Given the description of an element on the screen output the (x, y) to click on. 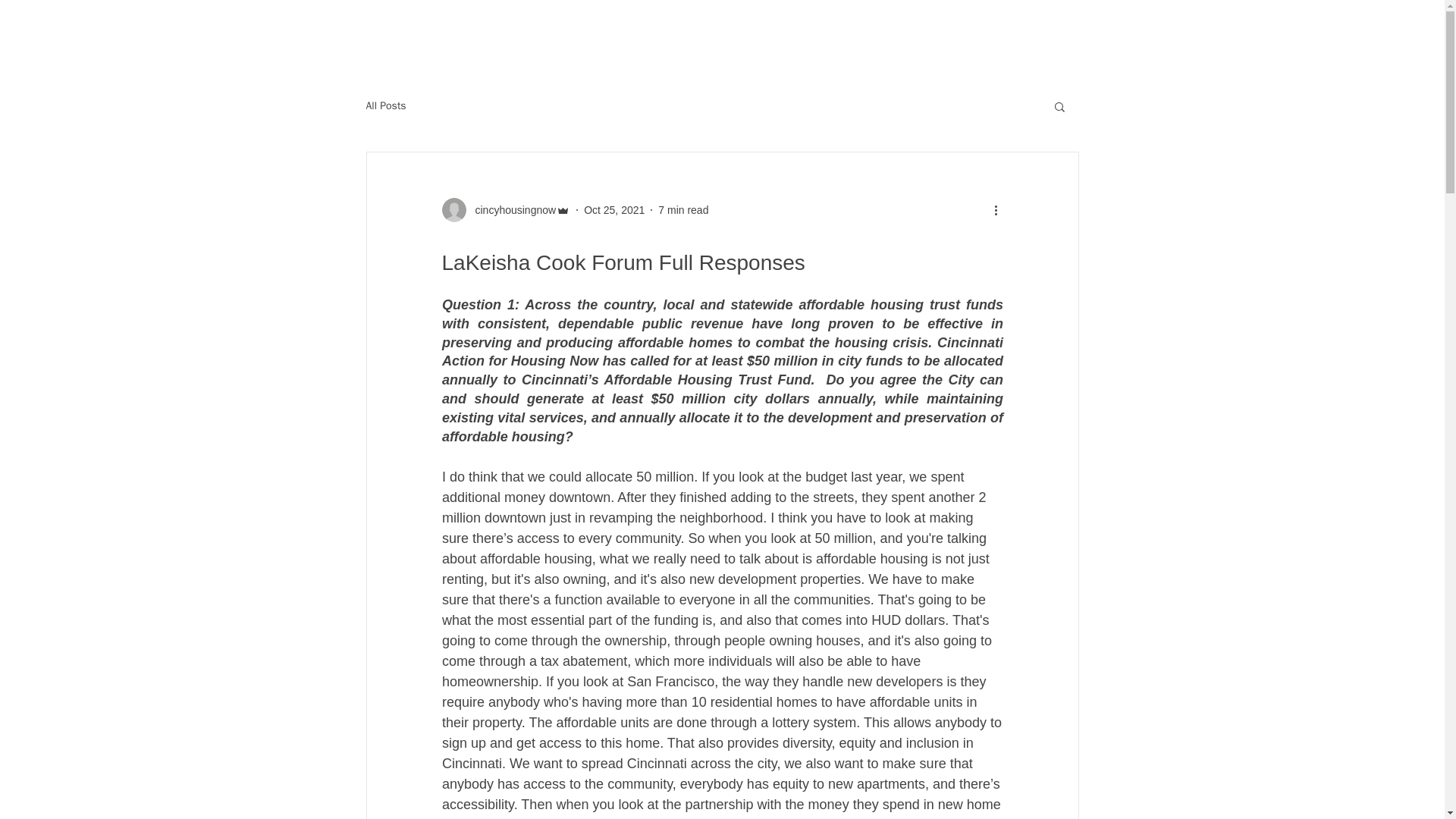
cincyhousingnow (510, 209)
Oct 25, 2021 (614, 209)
7 min read (682, 209)
cincyhousingnow (505, 209)
All Posts (385, 106)
